Given the description of an element on the screen output the (x, y) to click on. 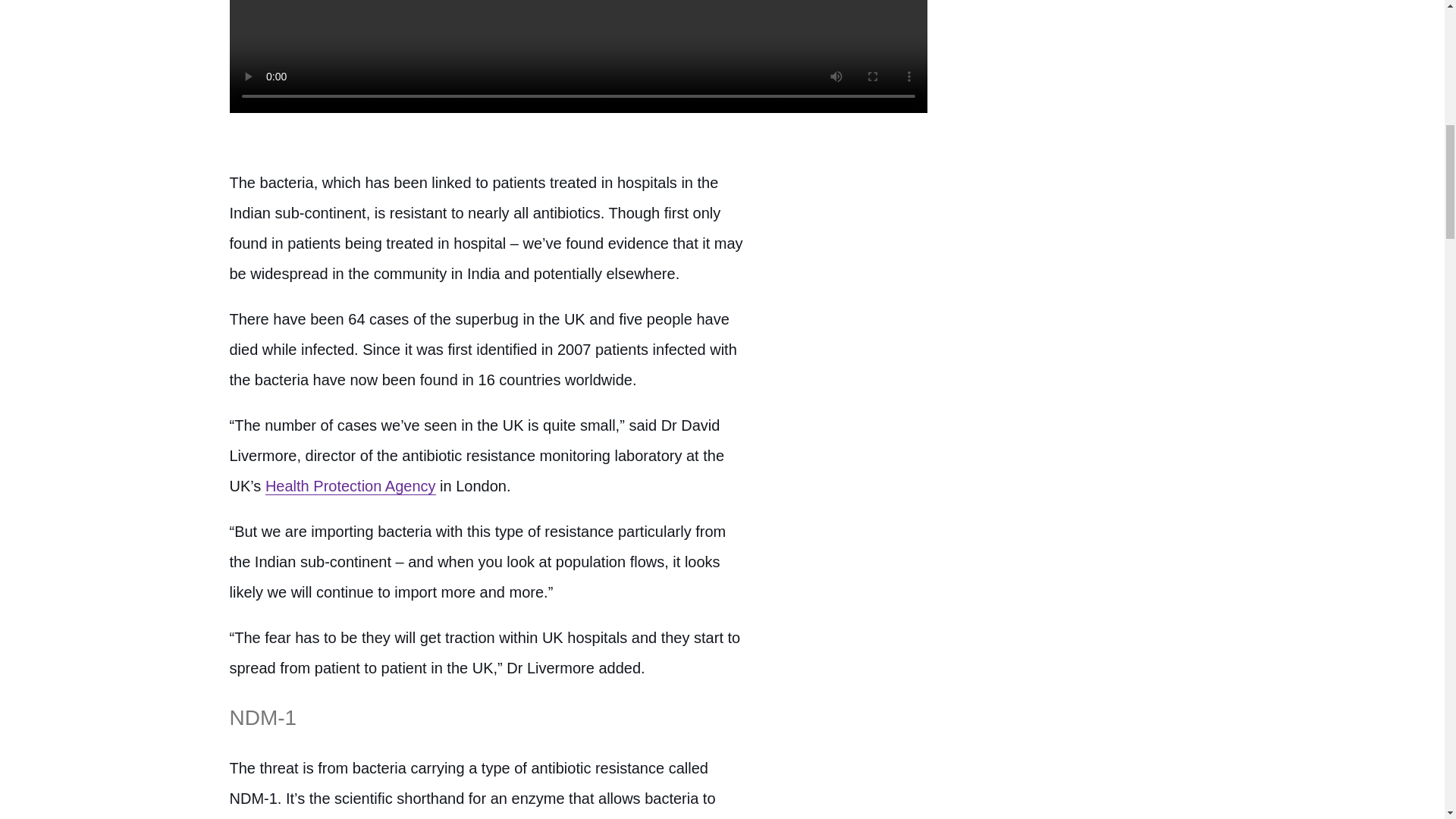
Health Protection Agency (349, 486)
